Given the description of an element on the screen output the (x, y) to click on. 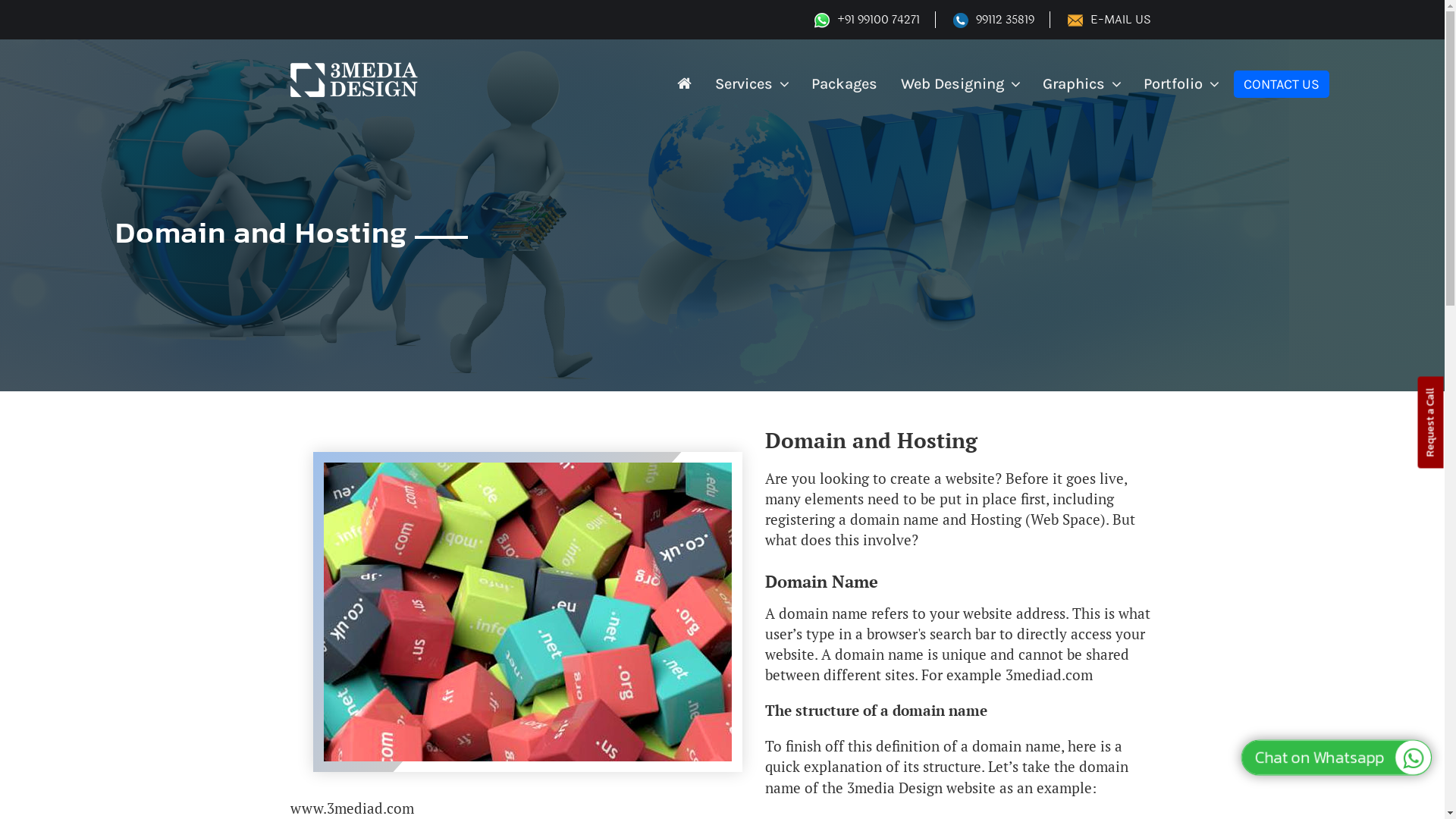
Graphics Element type: text (1081, 84)
Social Media Design Element type: text (1121, 113)
99112 35819 Element type: text (993, 19)
+91 99100 74271 Element type: text (865, 19)
Packages Element type: text (843, 84)
Static Web Design Element type: text (985, 113)
E-MAIL US Element type: text (1108, 19)
Let us discuss Element type: text (1324, 755)
Arabic Web Designing Element type: text (908, 113)
Static Web Design Element type: text (544, 113)
Web Designing Element type: text (959, 84)
Portfolio Element type: text (1180, 84)
CONTACT US Element type: text (1281, 83)
Services Element type: text (751, 84)
Web Designing Element type: text (265, 114)
Redesigning Website Element type: text (730, 113)
Web Designing Element type: text (1210, 113)
